Given the description of an element on the screen output the (x, y) to click on. 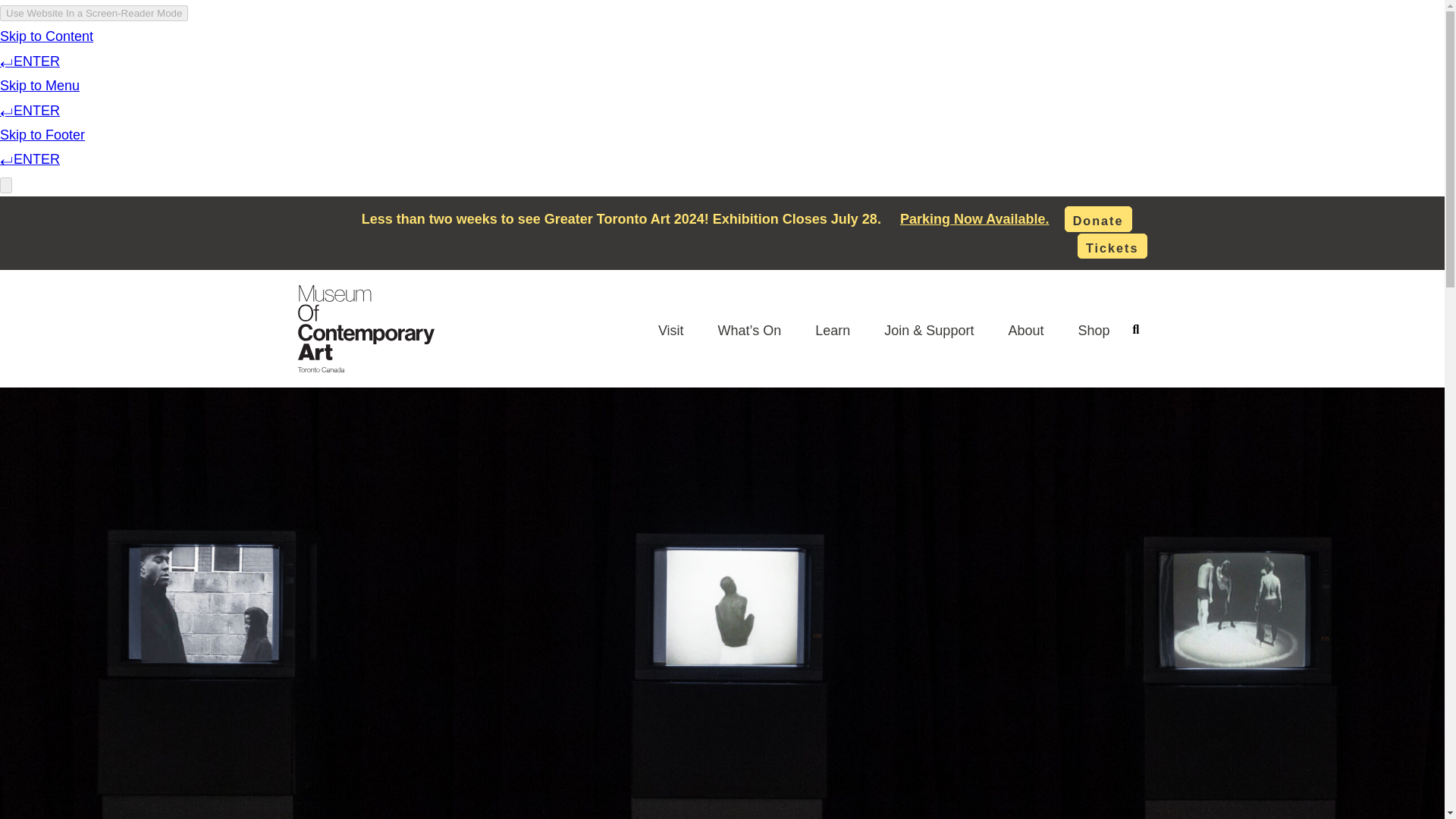
Parking Now Available. (974, 218)
About (1025, 330)
Learn (832, 330)
Shop (1093, 330)
Donate (1098, 218)
Tickets (1112, 245)
Visit (671, 330)
